Given the description of an element on the screen output the (x, y) to click on. 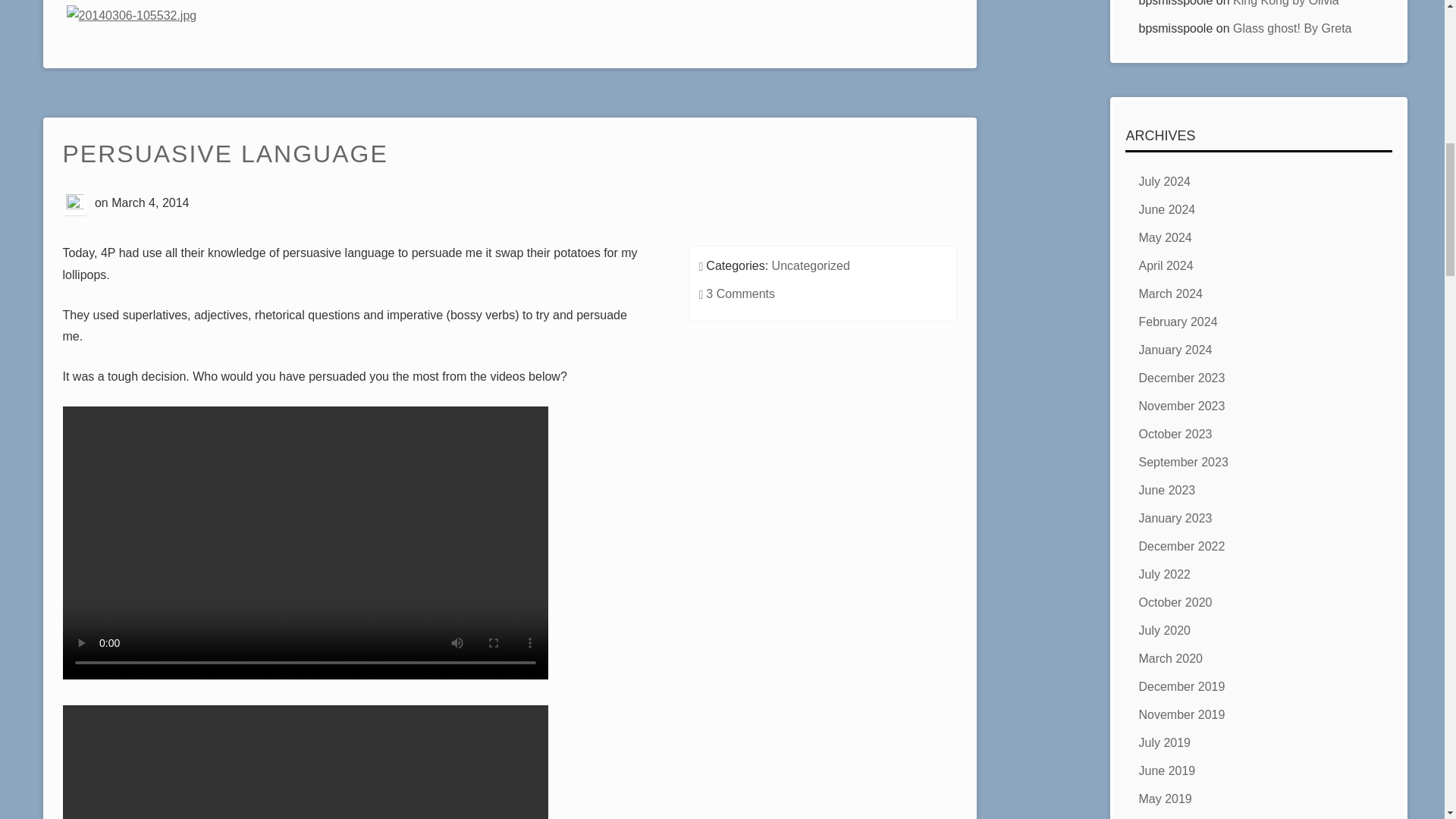
3 Comments (740, 293)
March 2024 (1170, 293)
January 2024 (1174, 349)
June 2023 (1166, 490)
July 2024 (1164, 181)
Glass ghost! By Greta (1292, 28)
May 2024 (1164, 237)
April 2024 (1165, 265)
January 2023 (1174, 517)
September 2023 (1182, 461)
King Kong by Olivia (1286, 3)
February 2024 (1177, 321)
December 2023 (1181, 377)
October 2023 (1174, 433)
November 2023 (1181, 405)
